Given the description of an element on the screen output the (x, y) to click on. 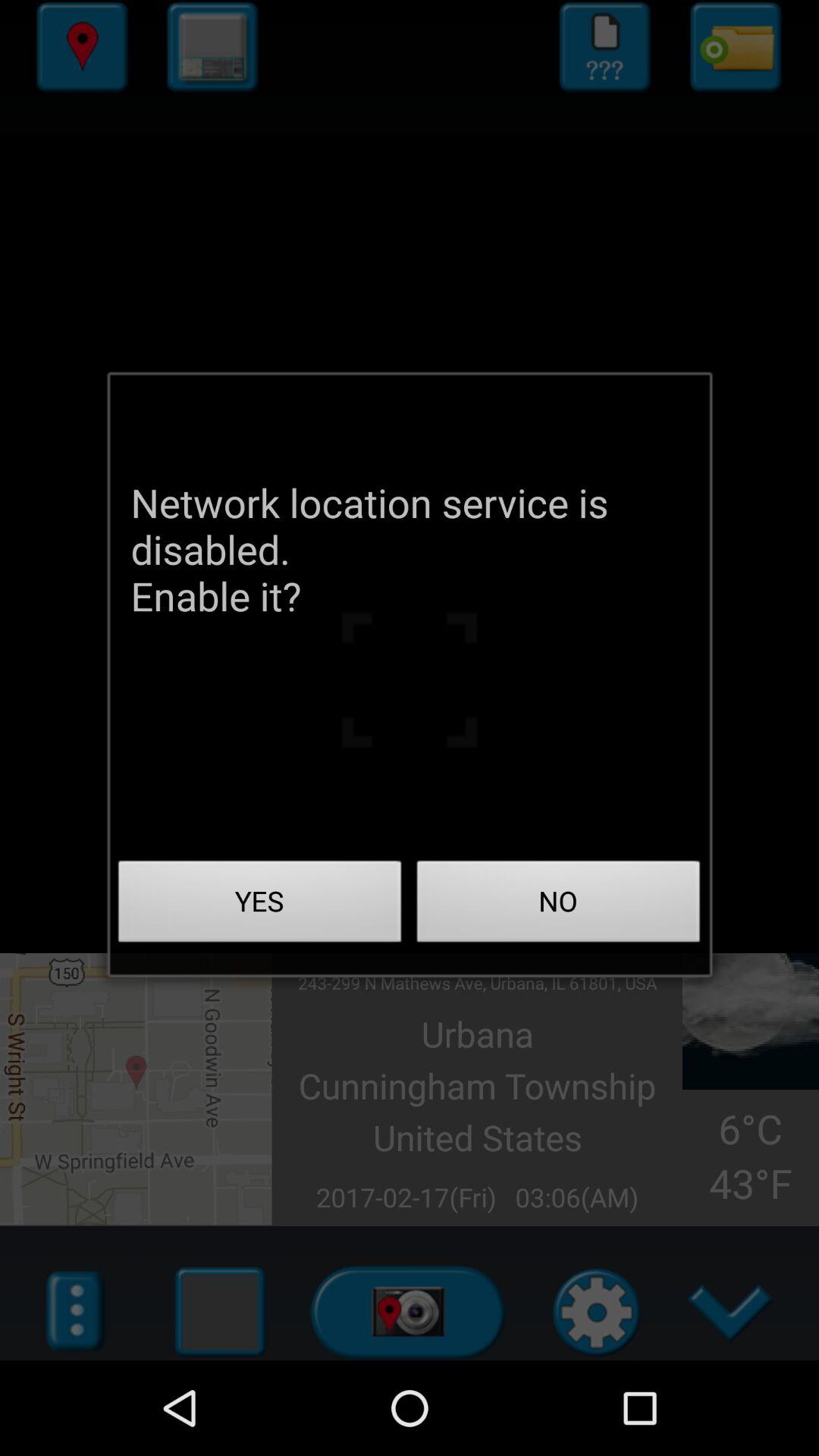
turn off item to the left of the no item (259, 905)
